Given the description of an element on the screen output the (x, y) to click on. 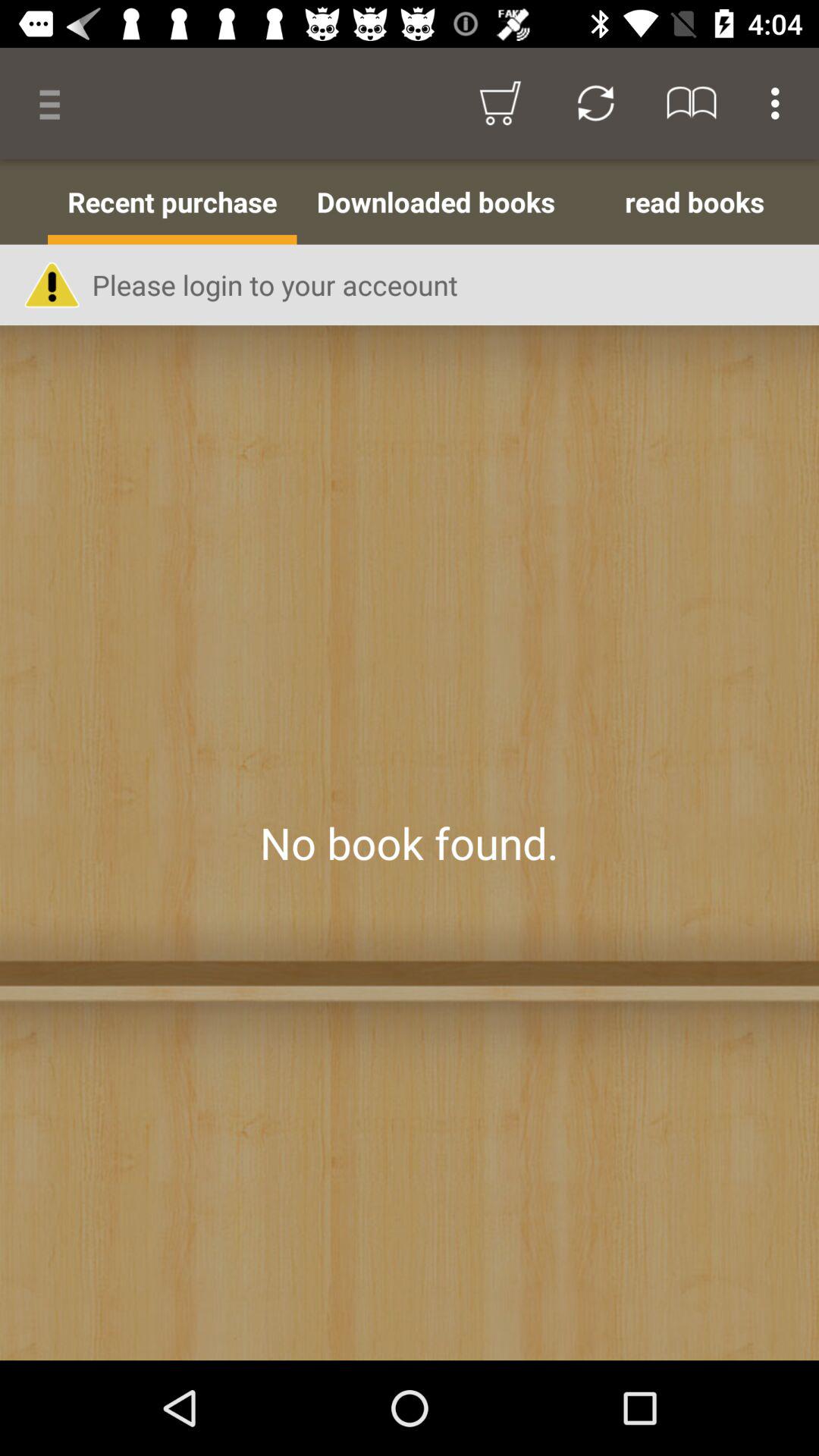
go to main site (409, 842)
